Given the description of an element on the screen output the (x, y) to click on. 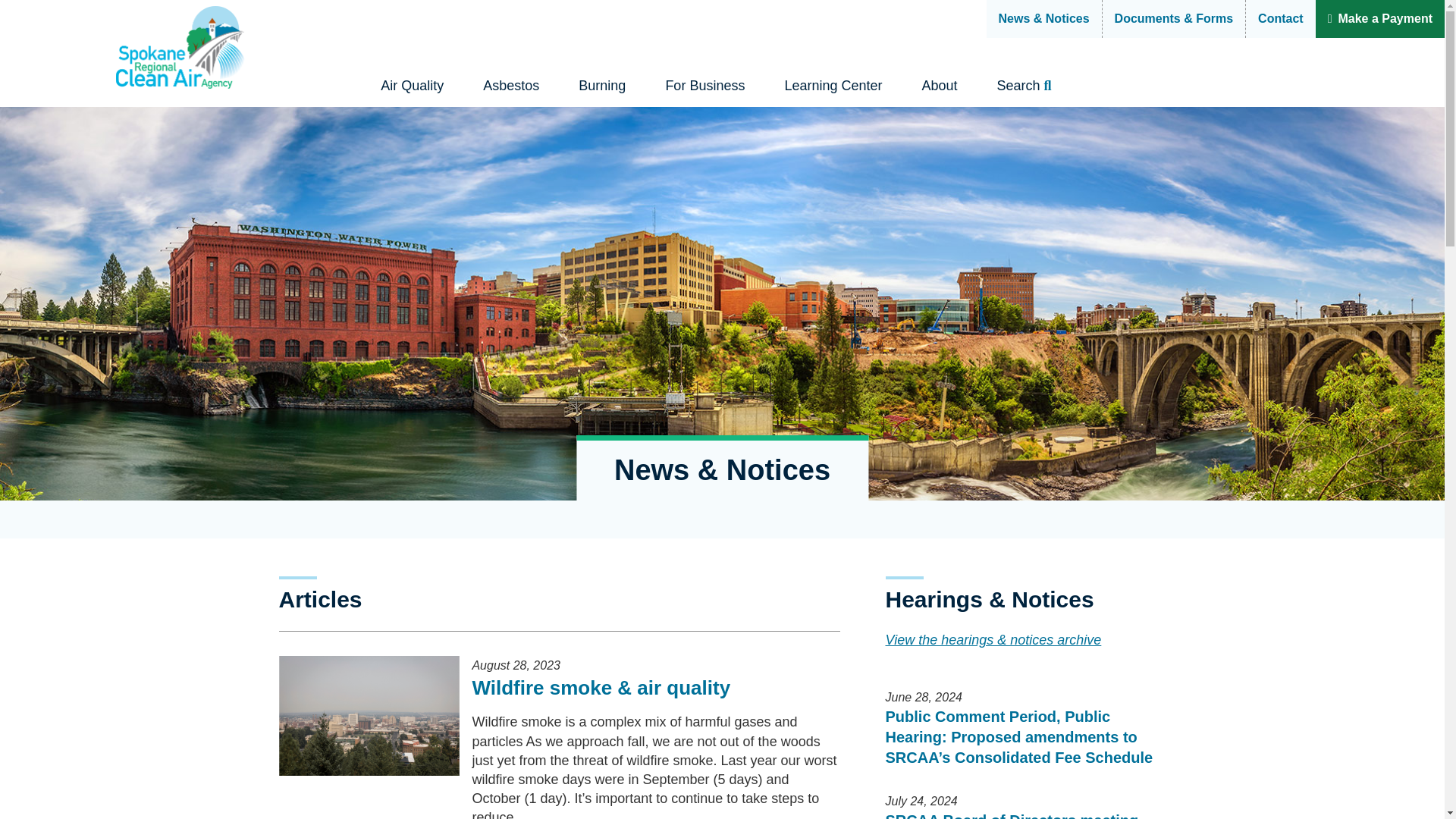
Asbestos (511, 86)
Air Quality (412, 86)
Spokane Regional Clean Air Agency (700, 139)
Contact (1280, 18)
Burning (602, 86)
For Business (704, 86)
